Given the description of an element on the screen output the (x, y) to click on. 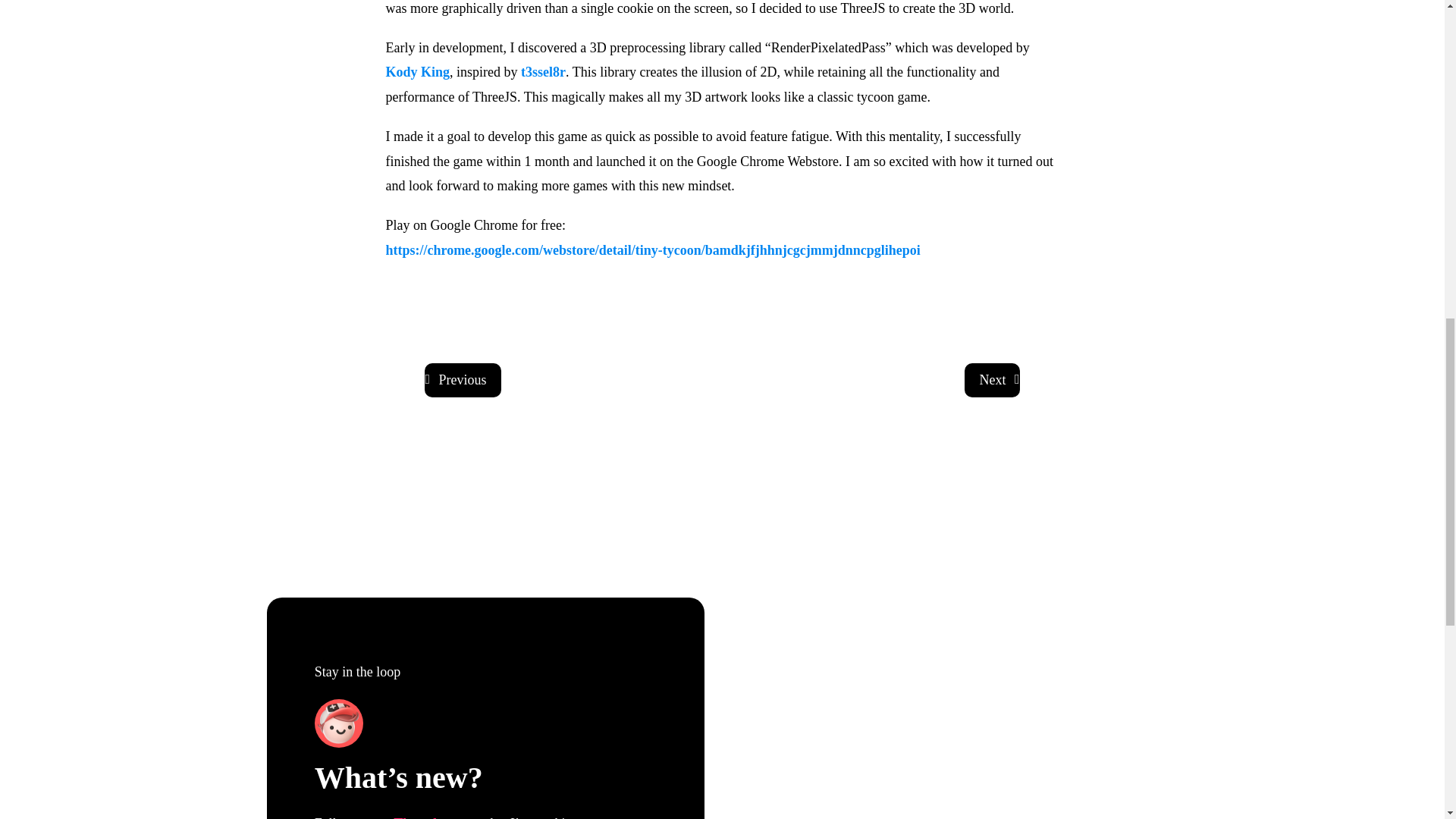
Kody King (417, 71)
me-3d-2-lr (338, 723)
Next (991, 380)
t3ssel8r (543, 71)
Previous (462, 380)
